Given the description of an element on the screen output the (x, y) to click on. 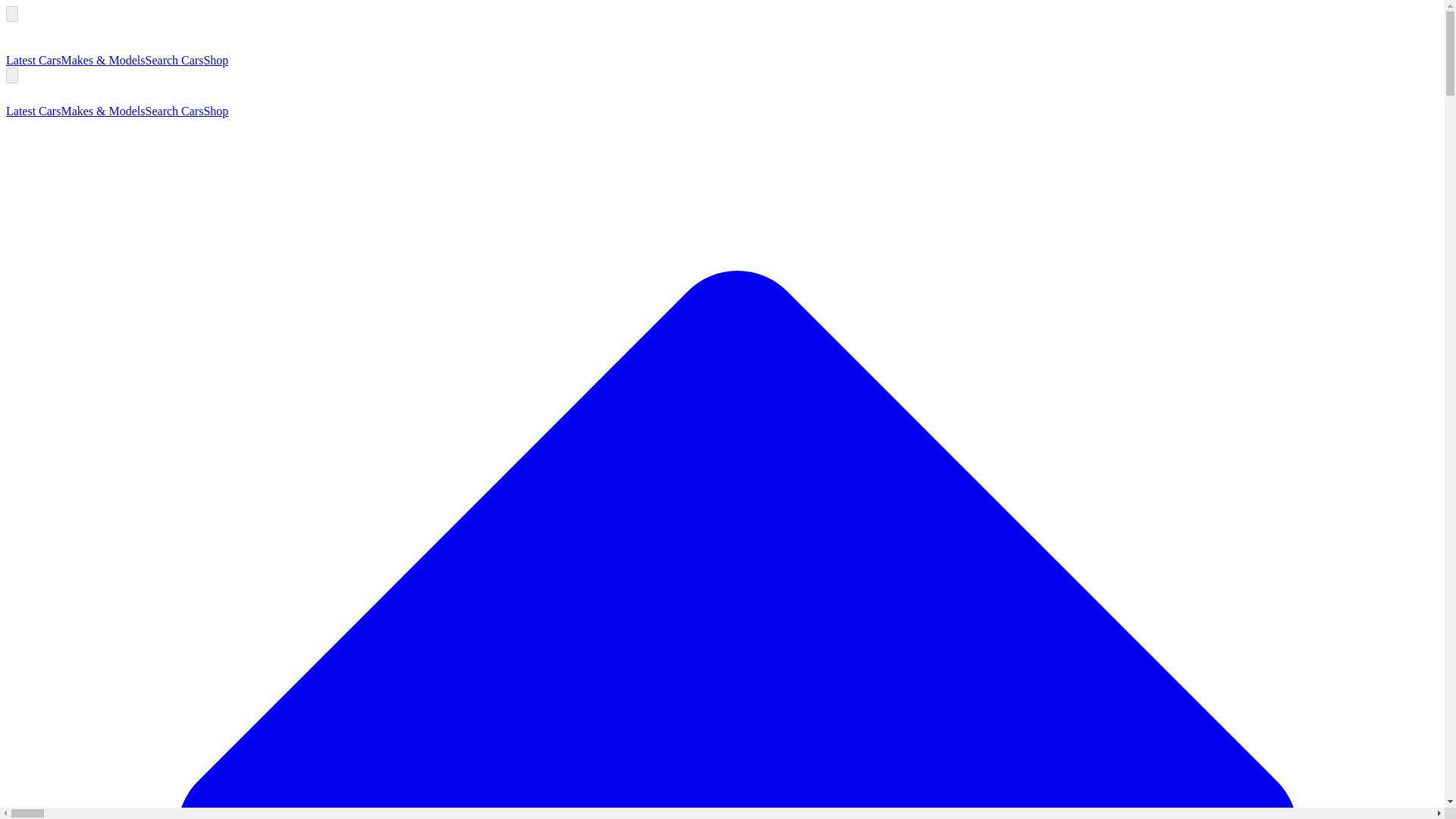
Latest Cars (33, 110)
Latest Cars (33, 60)
Search Cars (174, 110)
Shop (215, 110)
Shop (215, 60)
Search Cars (174, 60)
